Given the description of an element on the screen output the (x, y) to click on. 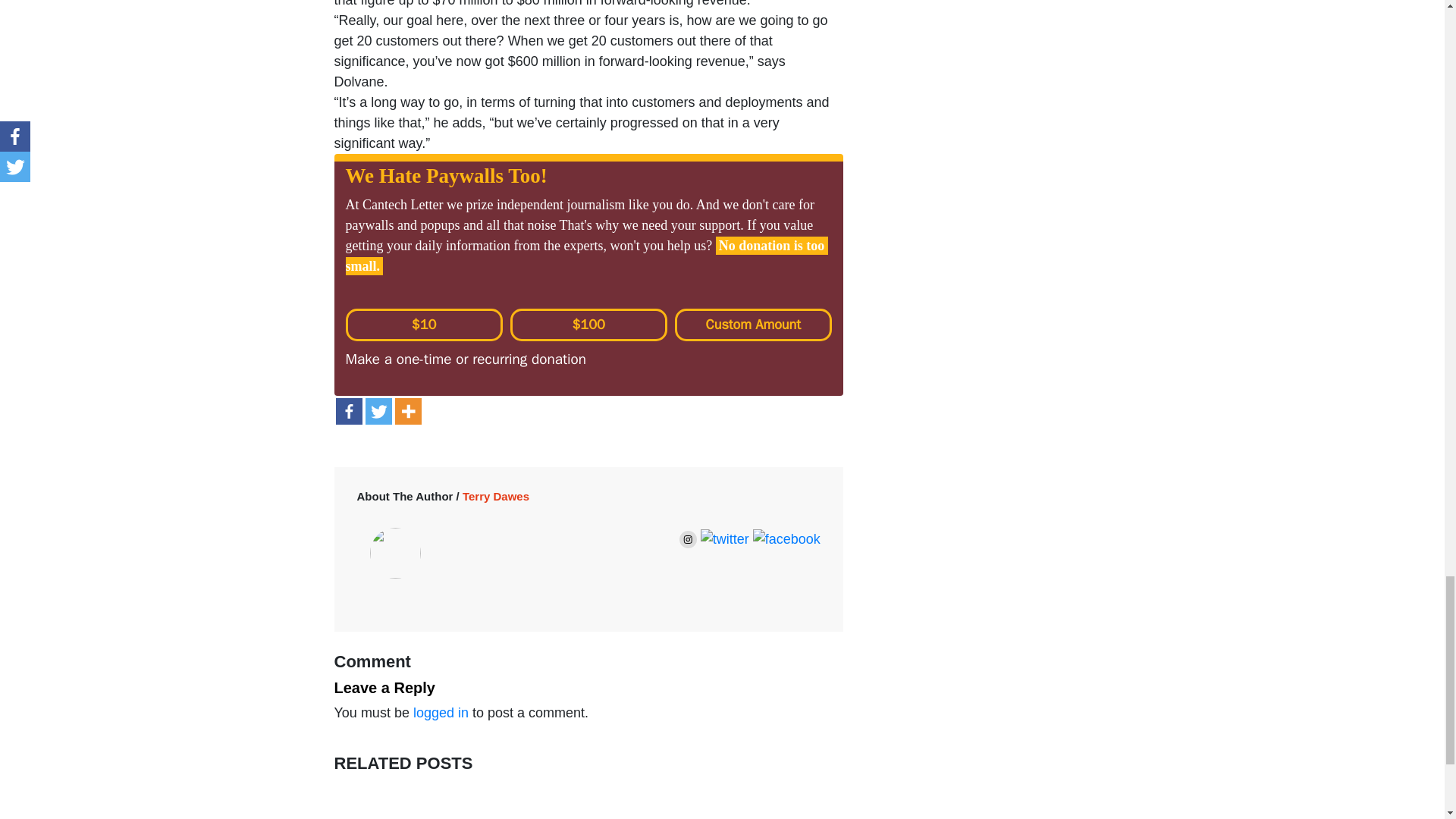
Twitter (378, 411)
More (407, 411)
Facebook (347, 411)
